Given the description of an element on the screen output the (x, y) to click on. 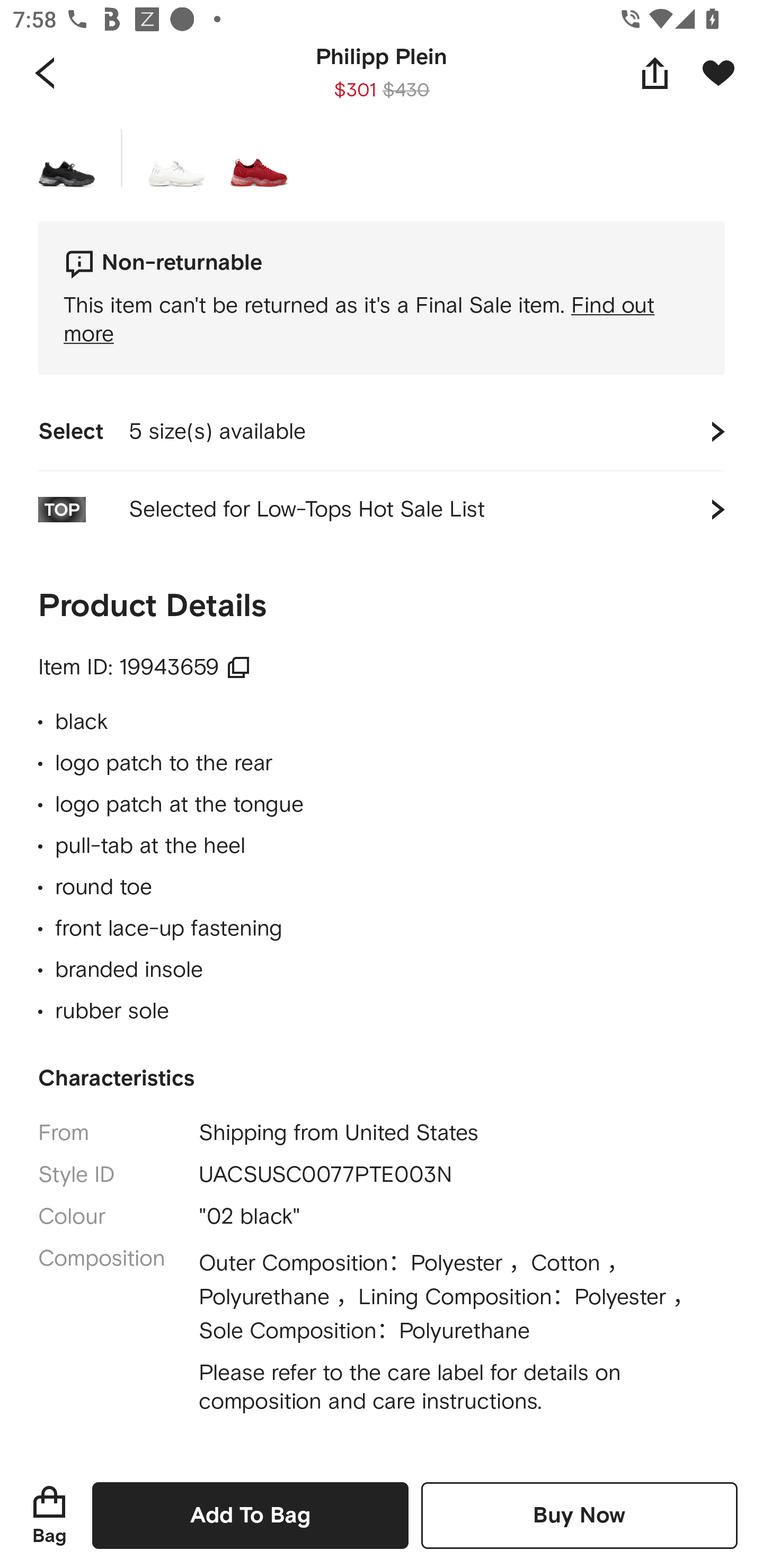
Select 5 size(s) available (381, 431)
Selected for Low-Tops Hot Sale List (381, 509)
Item ID: 19943659 (144, 667)
Bag (49, 1515)
Add To Bag (250, 1515)
Buy Now (579, 1515)
